Given the description of an element on the screen output the (x, y) to click on. 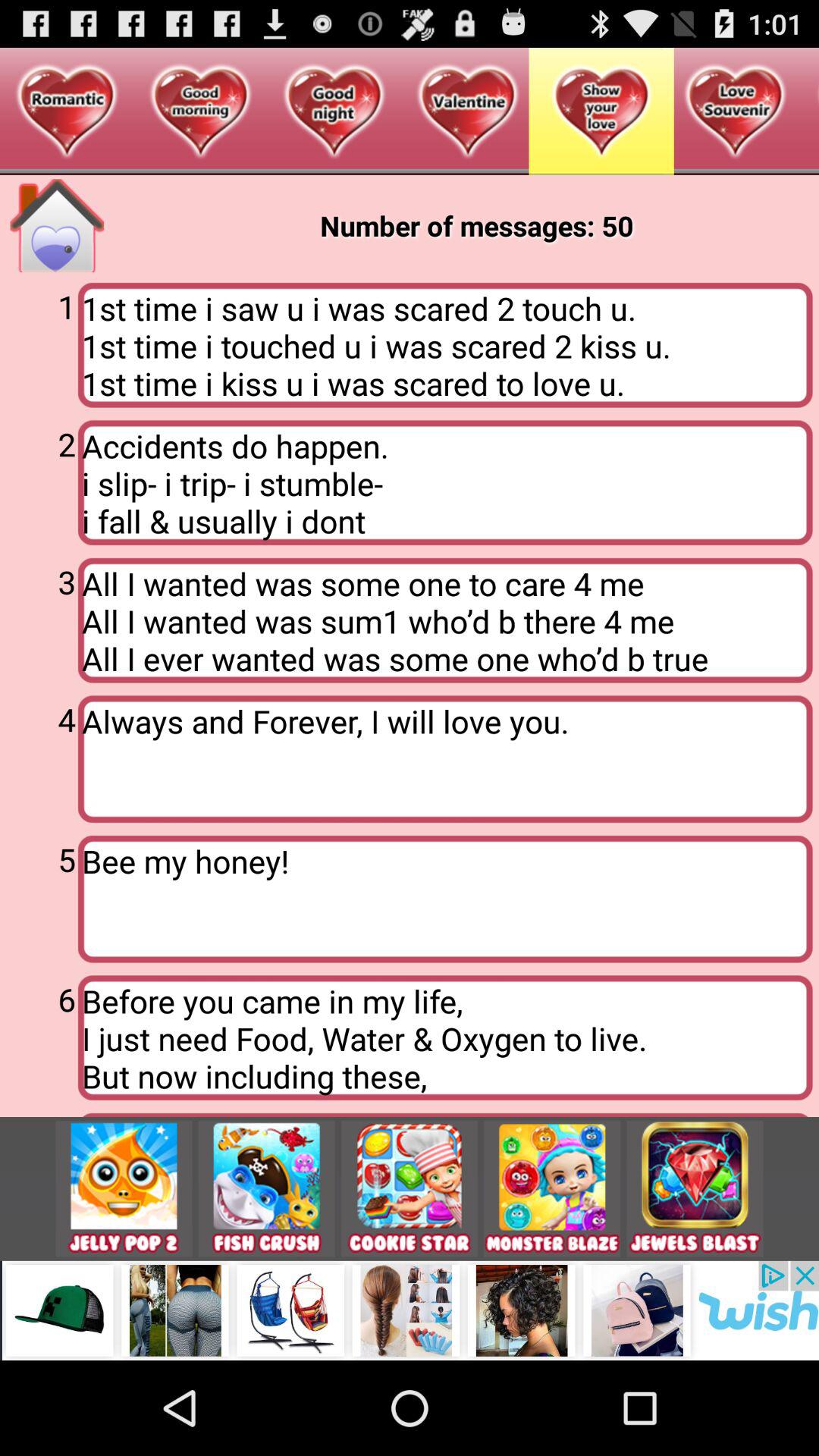
choose a character (552, 1188)
